Given the description of an element on the screen output the (x, y) to click on. 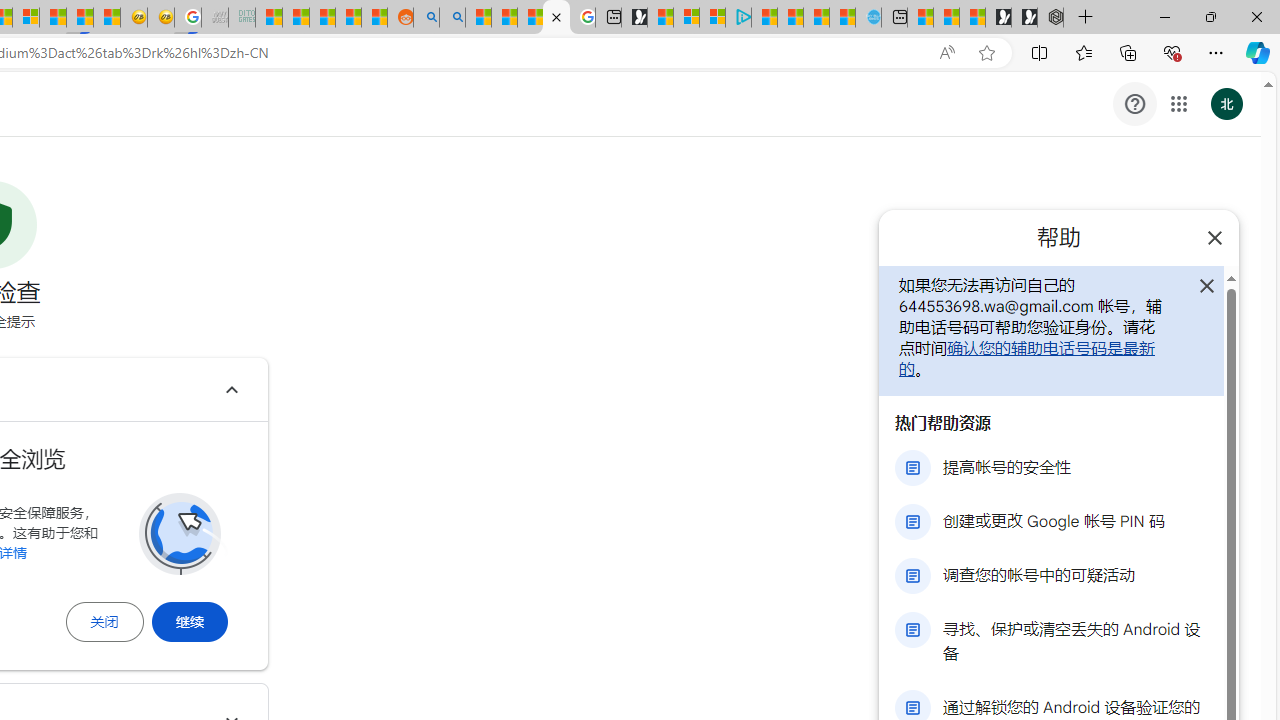
Class: gb_E (1178, 103)
